Given the description of an element on the screen output the (x, y) to click on. 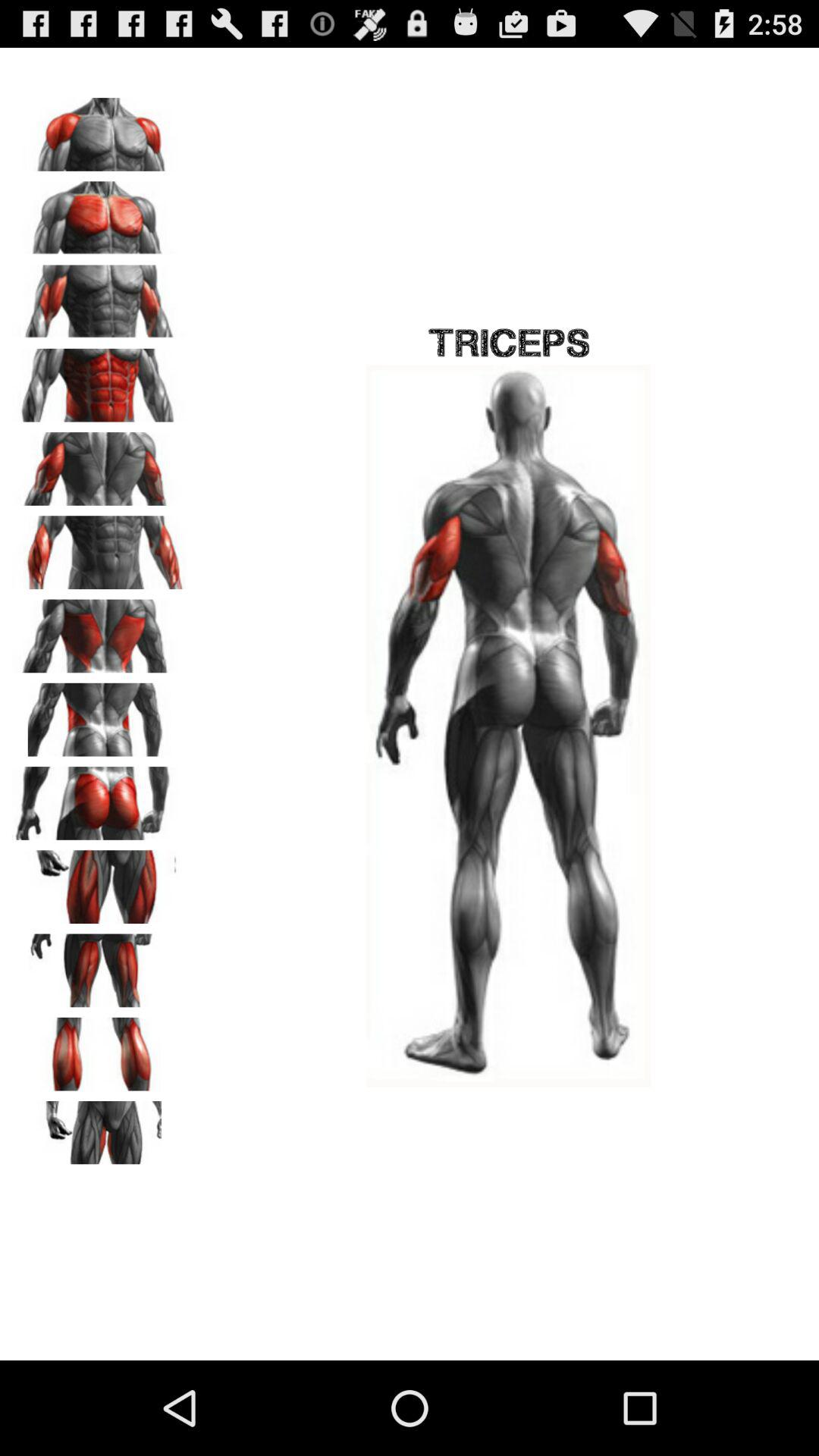
upper shoulders (99, 129)
